Given the description of an element on the screen output the (x, y) to click on. 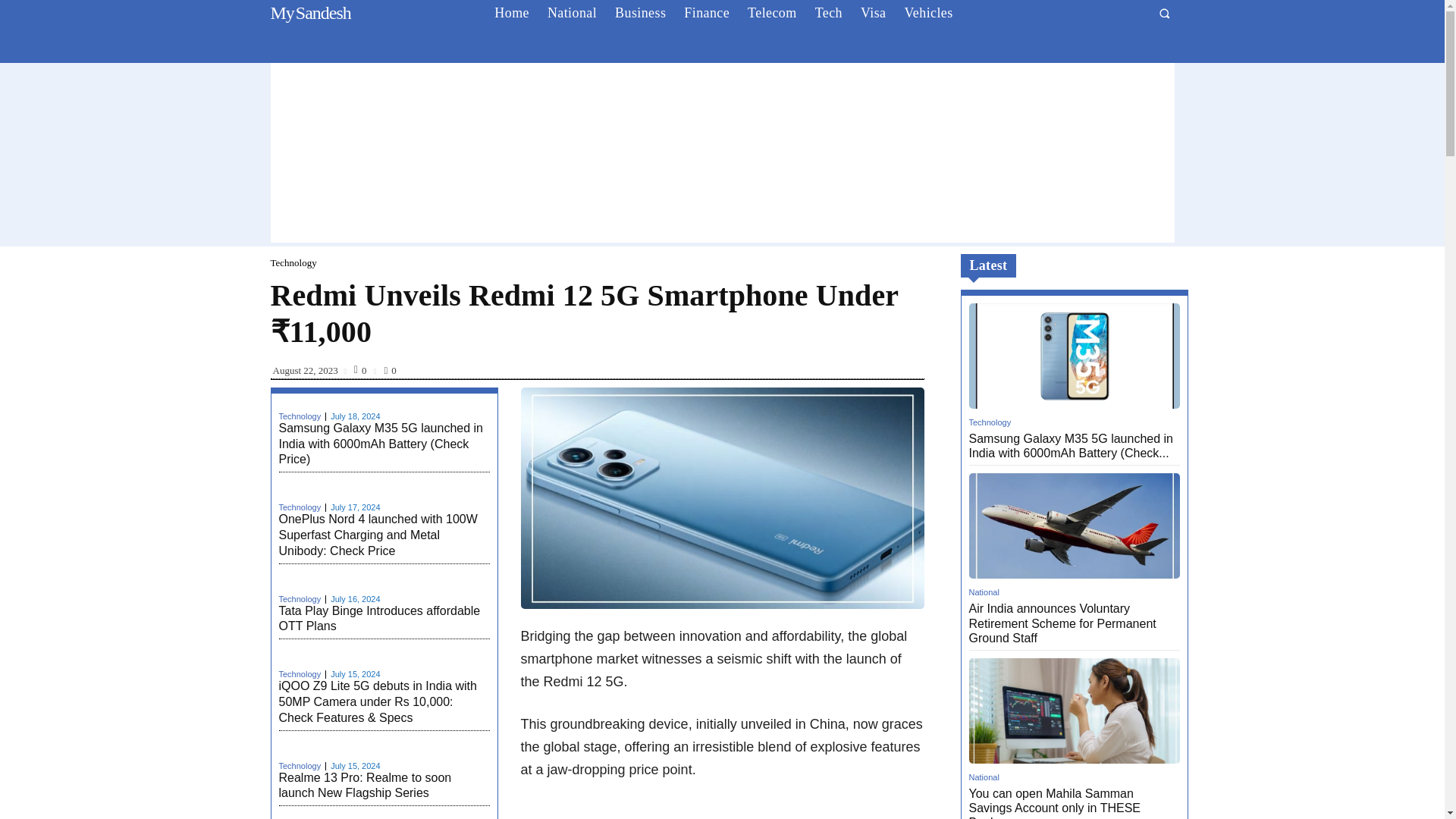
Technology (302, 507)
Visa (873, 12)
Home (511, 12)
Redmi 12 5G (721, 498)
Business (640, 12)
Technology (302, 416)
Tech (307, 12)
Tata Play Binge Introduces affordable OTT Plans (828, 12)
Technology (379, 618)
Technology (292, 262)
Advertisement (302, 766)
Finance (721, 809)
